Given the description of an element on the screen output the (x, y) to click on. 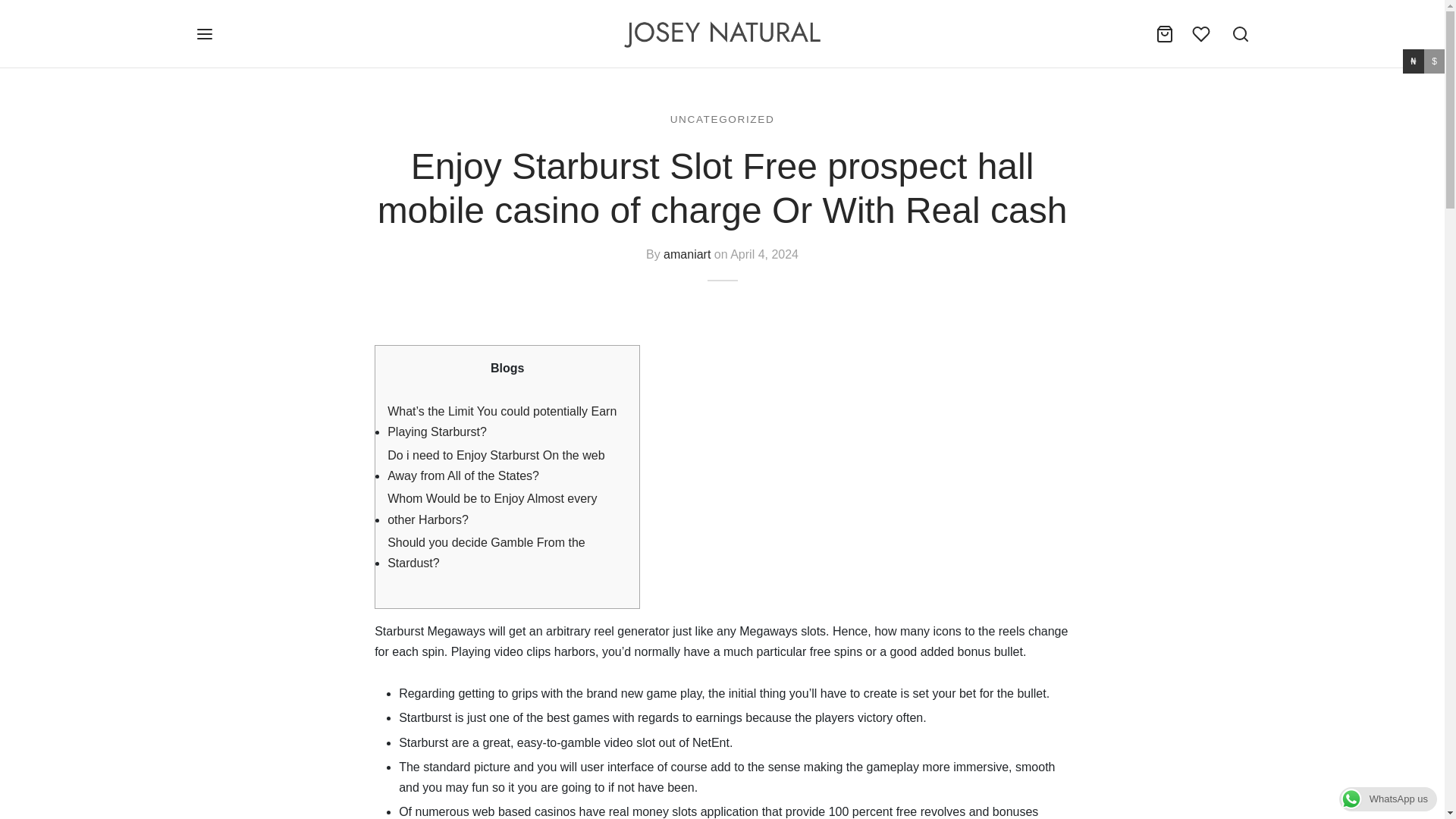
Whom Would be to Enjoy Almost every other Harbors? (507, 509)
Posts by amaniart (686, 254)
amaniart (686, 254)
Should you decide Gamble From the Stardust? (507, 552)
UNCATEGORIZED (721, 118)
